Given the description of an element on the screen output the (x, y) to click on. 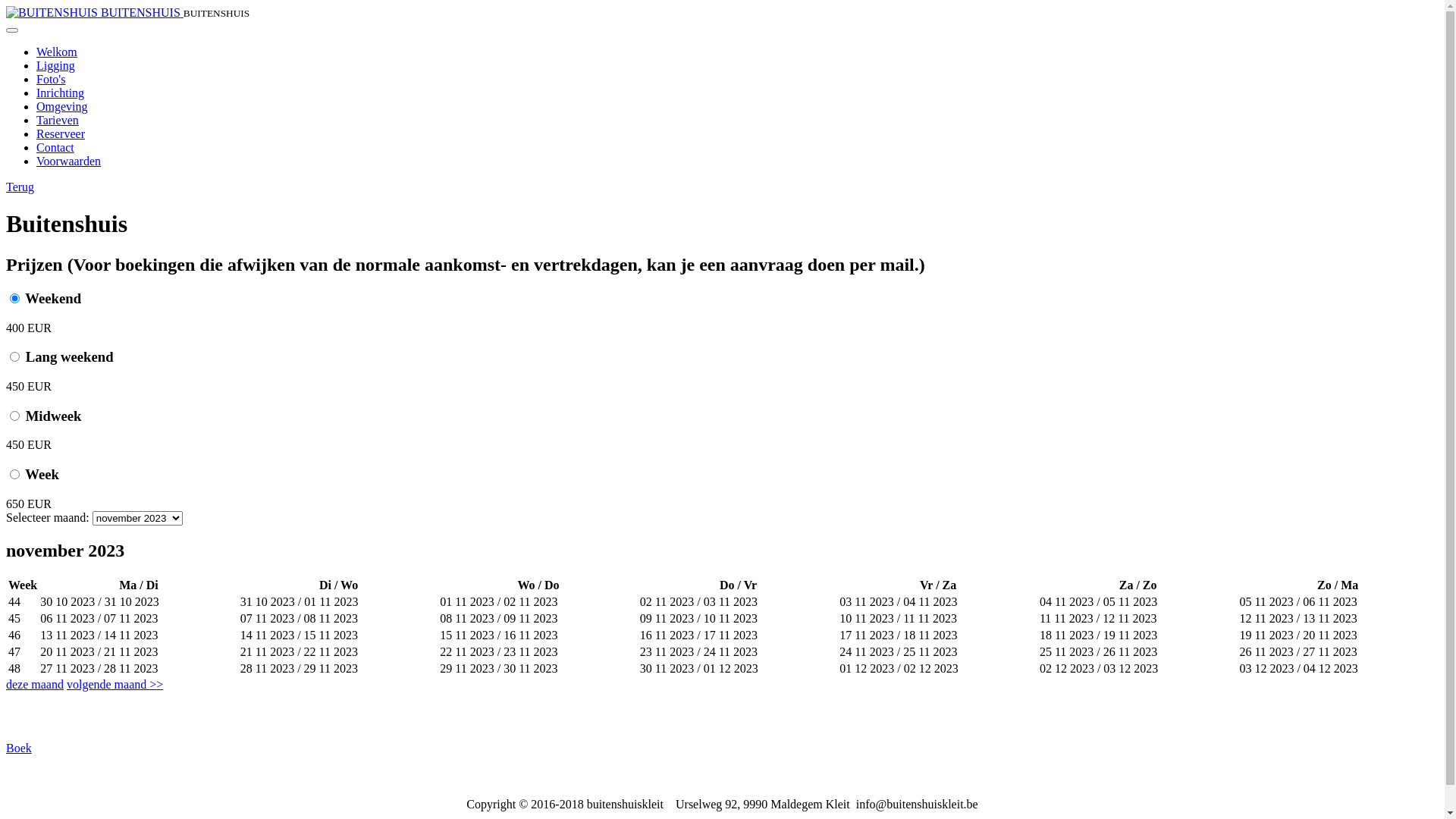
Inrichting Element type: text (60, 92)
Omgeving Element type: text (61, 106)
Foto's Element type: text (50, 78)
BUITENSHUIS Element type: text (94, 12)
Ligging Element type: text (55, 65)
Terug Element type: text (20, 186)
deze maand Element type: text (34, 683)
Contact Element type: text (55, 147)
volgende maand >> Element type: text (114, 683)
Welkom Element type: text (56, 51)
Boek Element type: text (18, 747)
Reserveer Element type: text (60, 133)
Voorwaarden Element type: text (68, 160)
Tarieven Element type: text (57, 119)
